Given the description of an element on the screen output the (x, y) to click on. 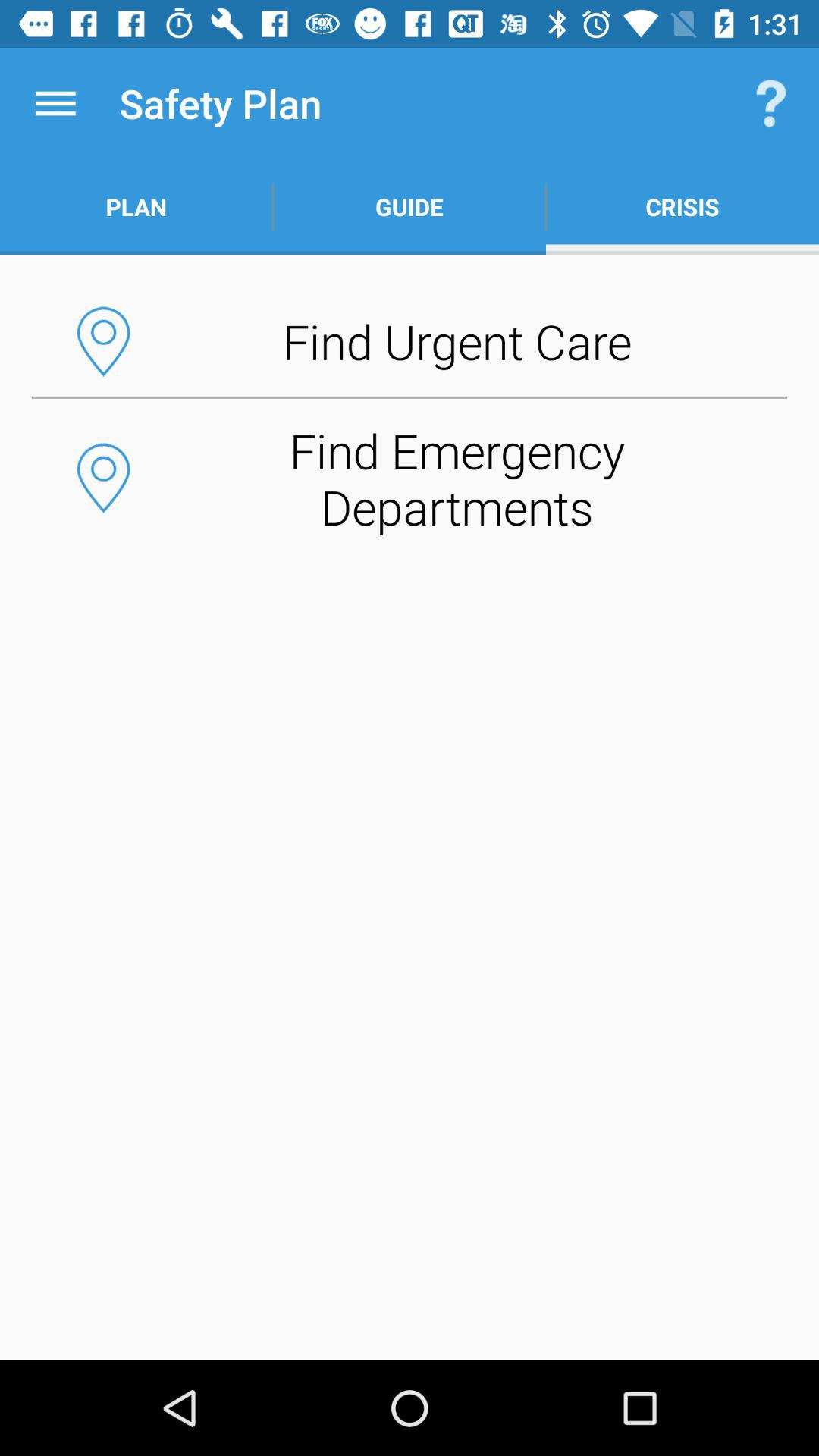
open the icon to the left of safety plan (55, 103)
